Given the description of an element on the screen output the (x, y) to click on. 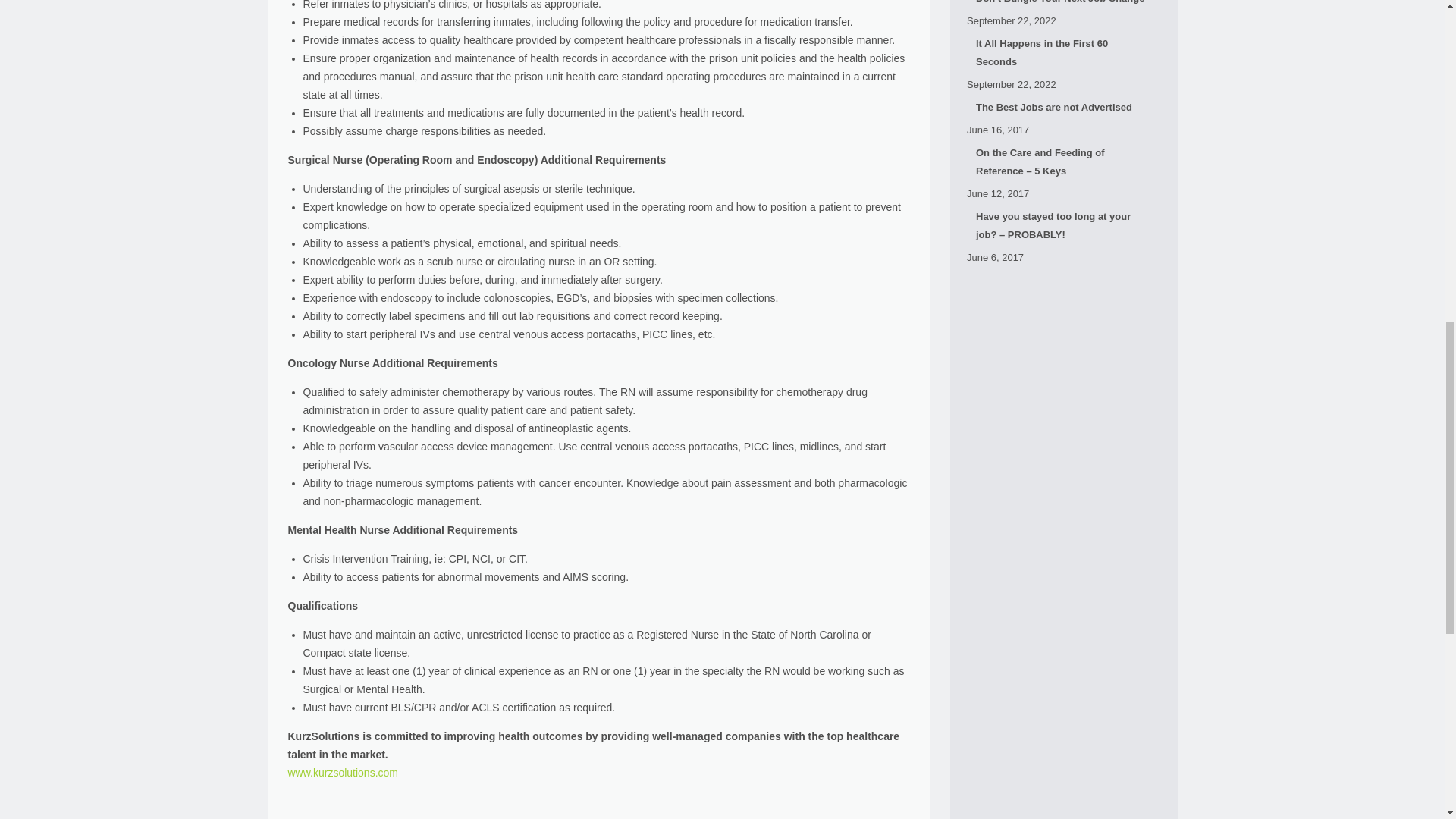
www.kurzsolutions.com (343, 772)
It All Happens in the First 60 Seconds (1063, 53)
The Best Jobs are not Advertised (1063, 107)
